Given the description of an element on the screen output the (x, y) to click on. 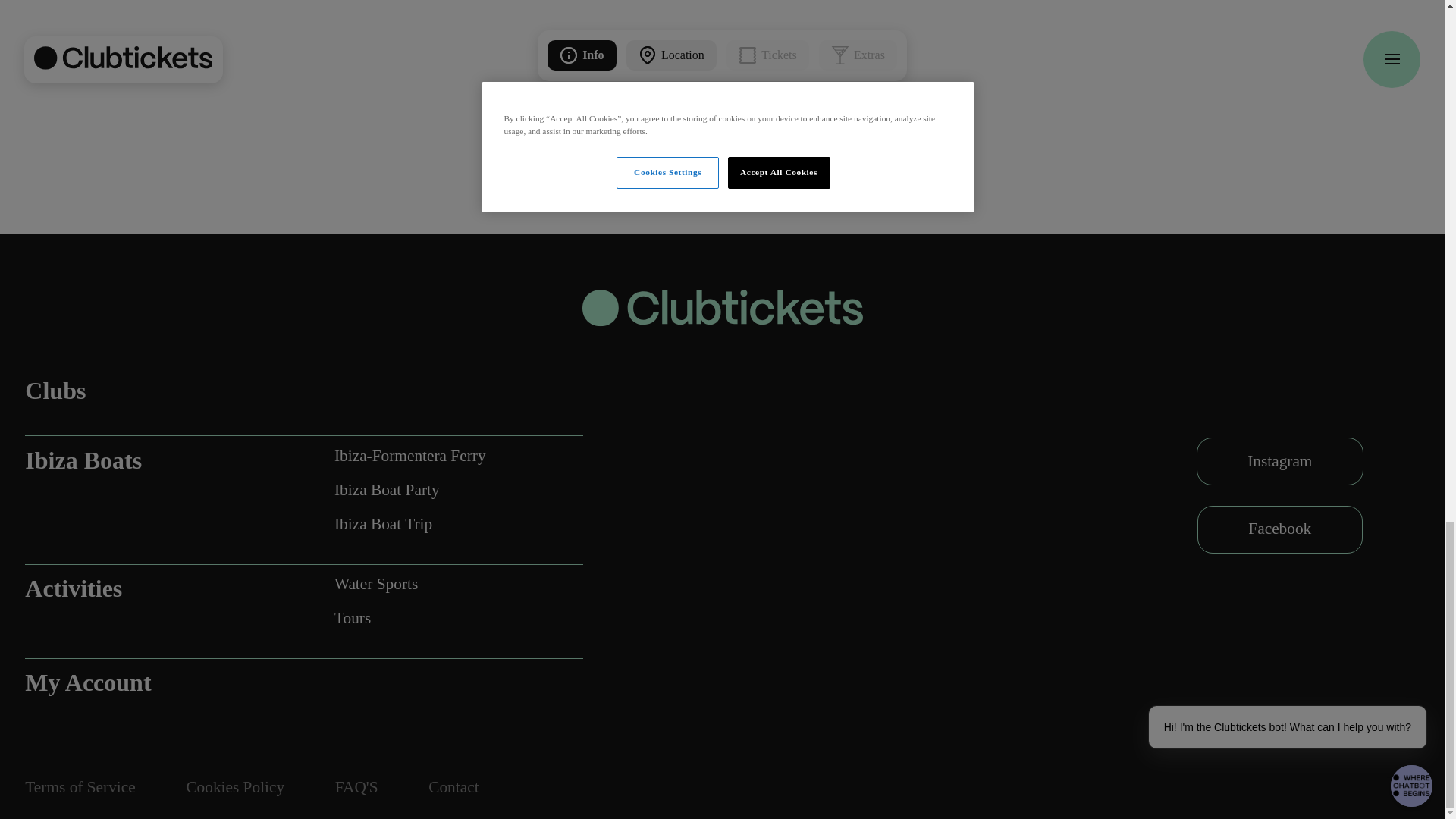
FAQ'S (356, 787)
Cookies Policy (234, 787)
Ibiza Boat Trip (410, 524)
Clubs (164, 390)
Water Sports (375, 583)
Facebook (1279, 529)
My Account (164, 682)
Ibiza Boats (164, 460)
Activities (164, 588)
Instagram (1280, 461)
Tours (375, 618)
Ibiza-Formentera Ferry (410, 456)
Ibiza Boat Party (410, 489)
Terms of Service (79, 787)
Contact (453, 787)
